Given the description of an element on the screen output the (x, y) to click on. 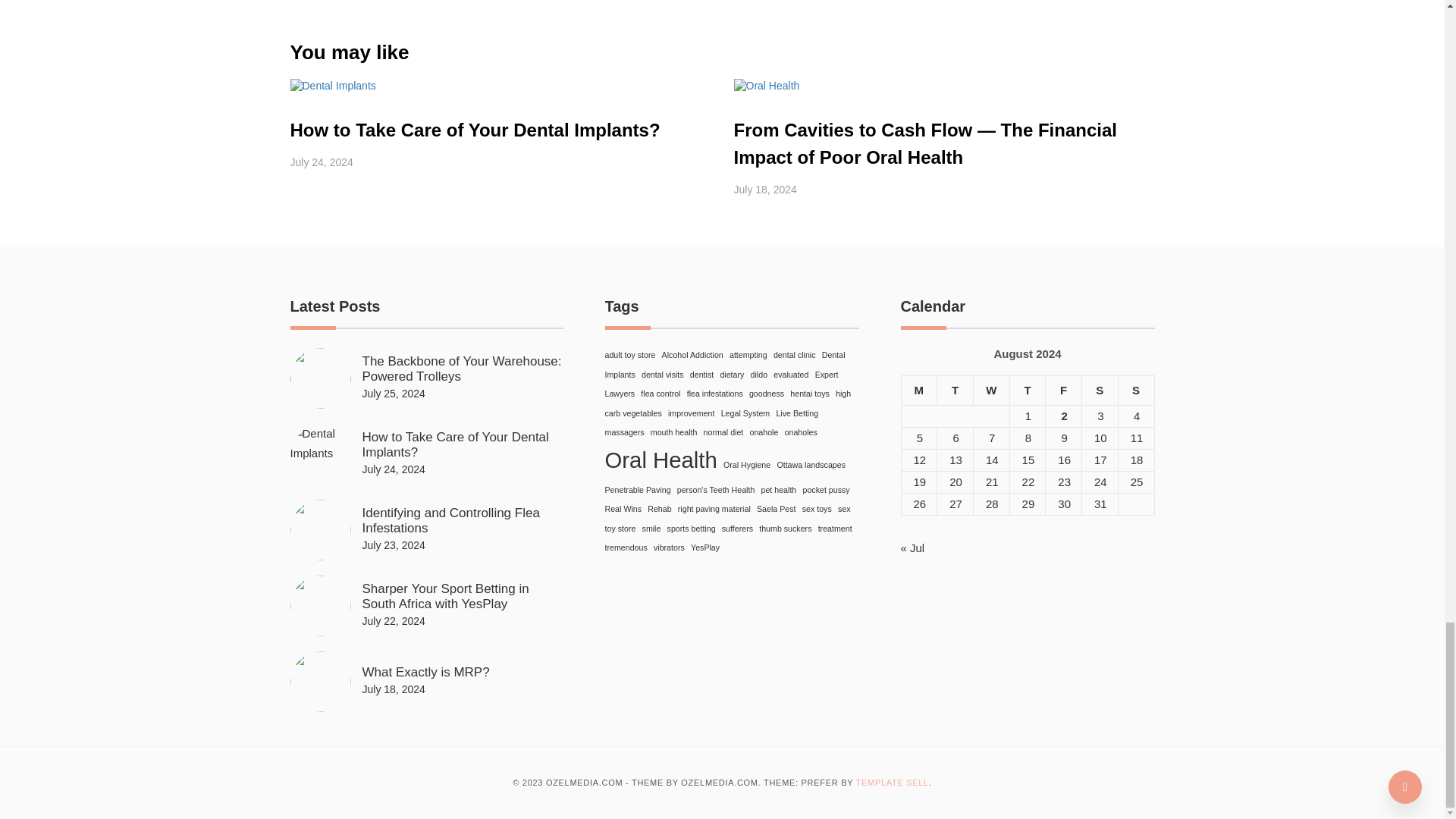
Sunday (1136, 389)
Tuesday (955, 389)
Wednesday (990, 389)
Saturday (1099, 389)
Monday (919, 389)
Friday (1063, 389)
Thursday (1027, 389)
